Given the description of an element on the screen output the (x, y) to click on. 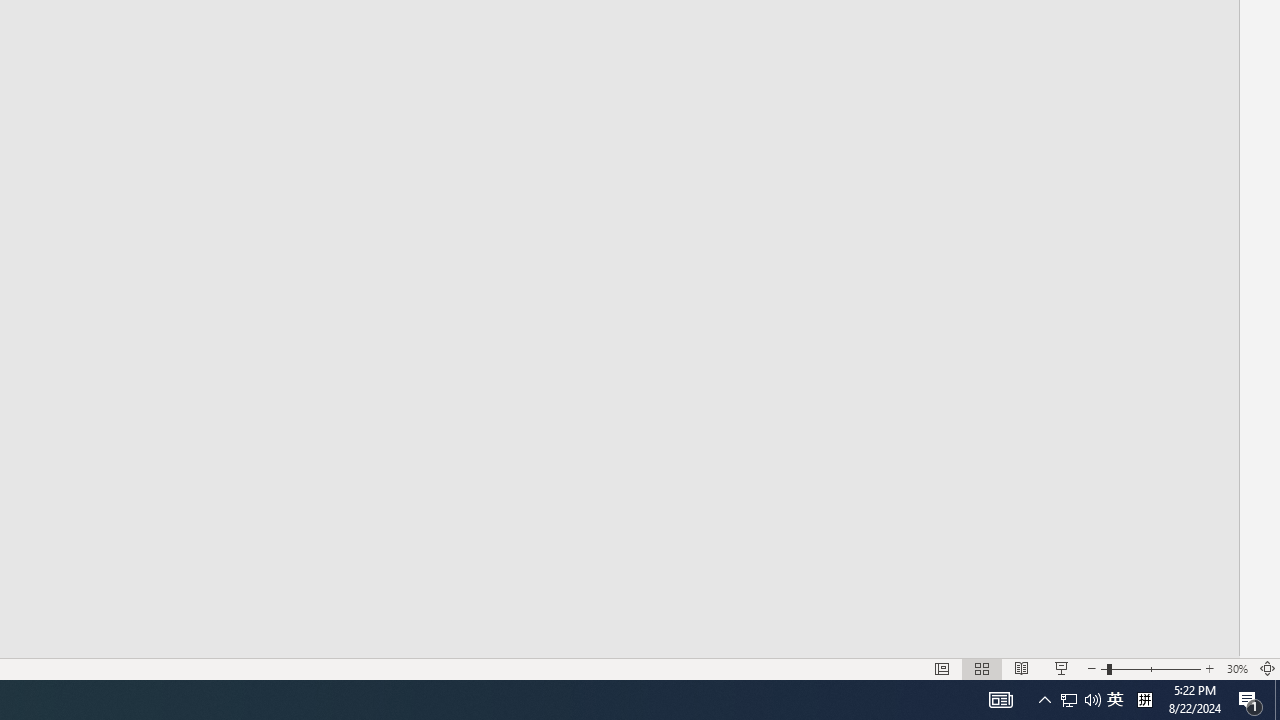
Zoom 30% (1236, 668)
